Given the description of an element on the screen output the (x, y) to click on. 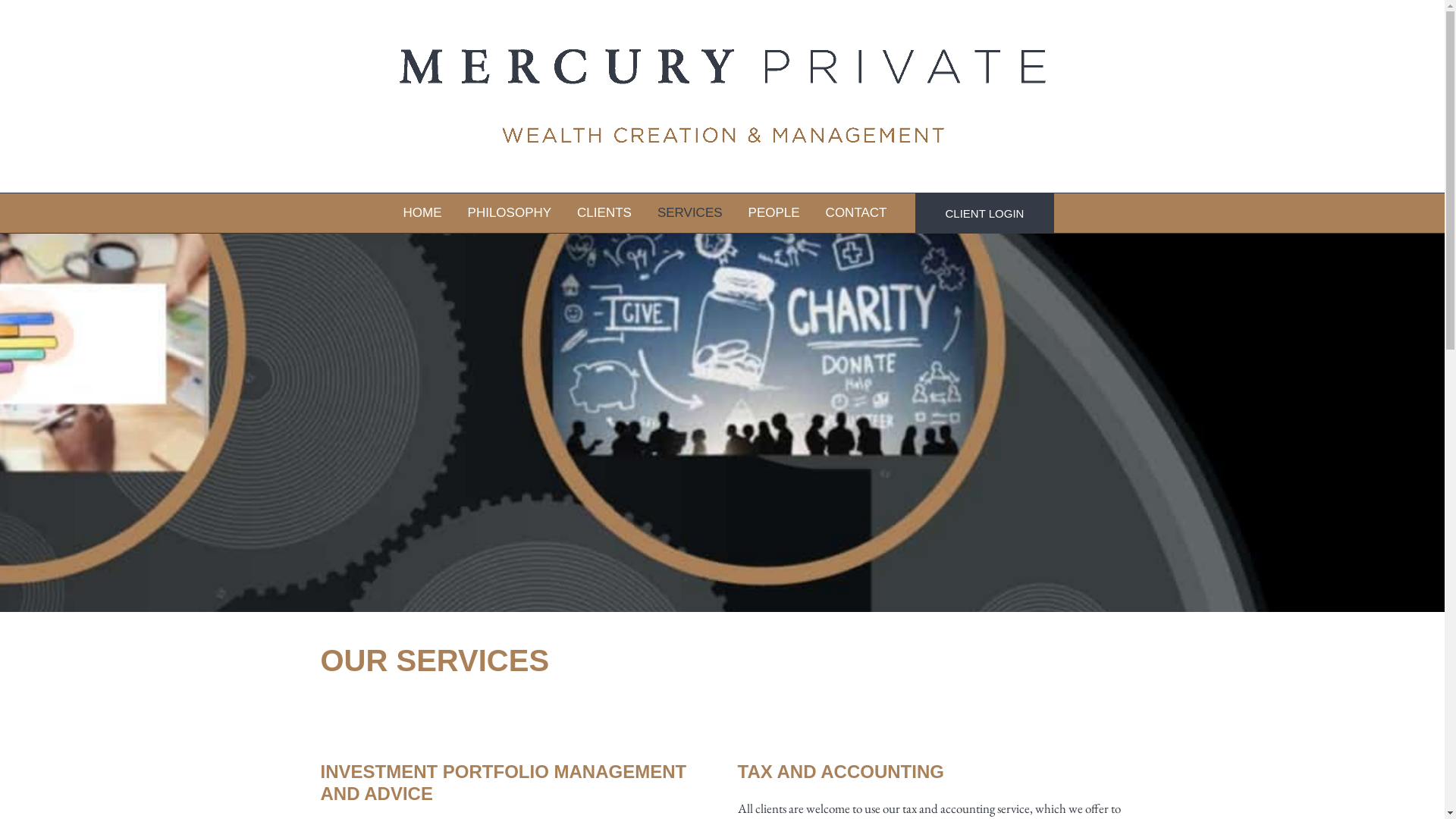
CLIENTS Element type: text (604, 212)
CLIENT LOGIN Element type: text (984, 212)
PEOPLE Element type: text (773, 212)
CONTACT Element type: text (856, 212)
SERVICES Element type: text (689, 212)
HOME Element type: text (422, 212)
PHILOSOPHY Element type: text (509, 212)
